Given the description of an element on the screen output the (x, y) to click on. 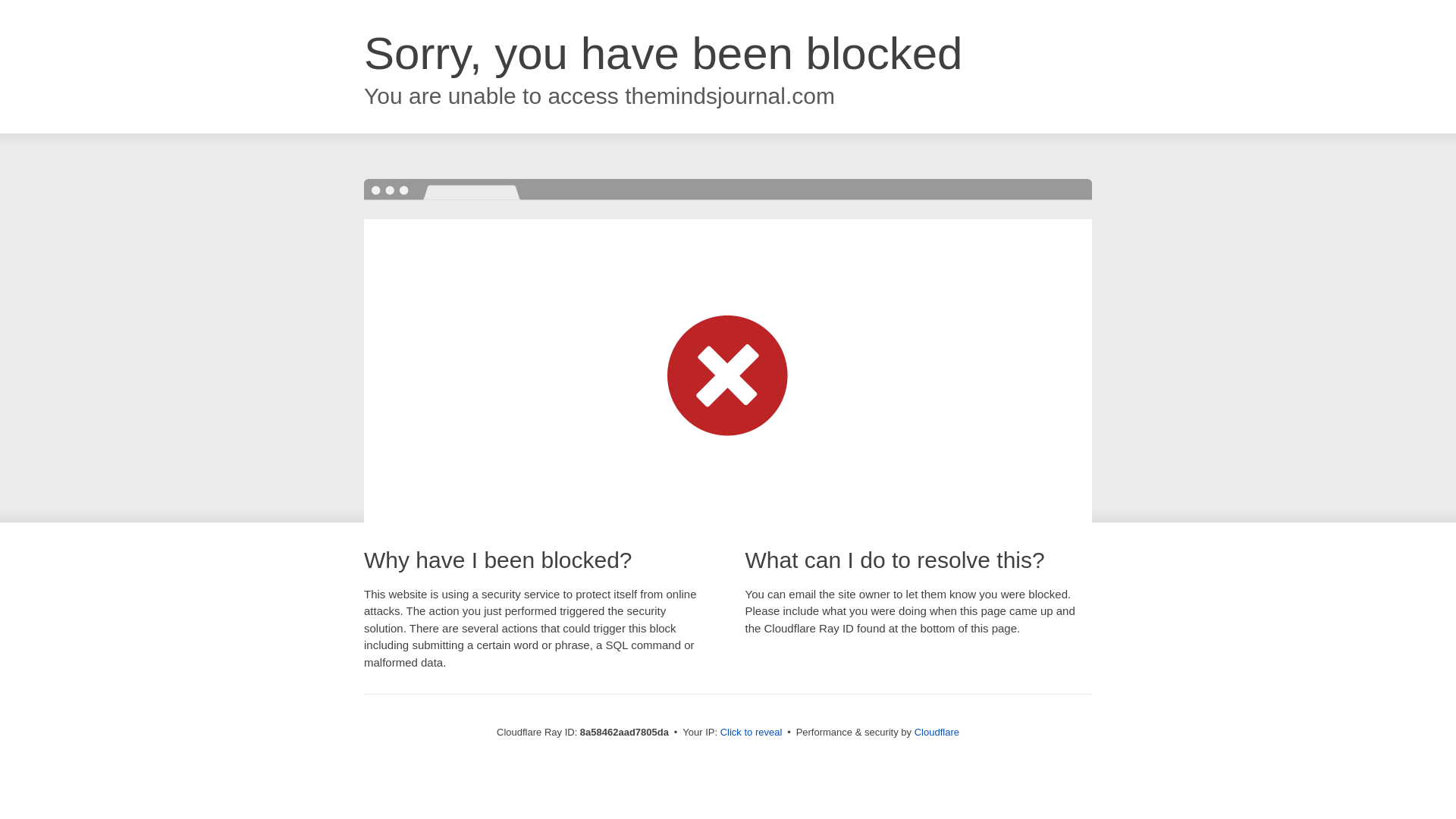
Click to reveal (751, 732)
Cloudflare (936, 731)
